Given the description of an element on the screen output the (x, y) to click on. 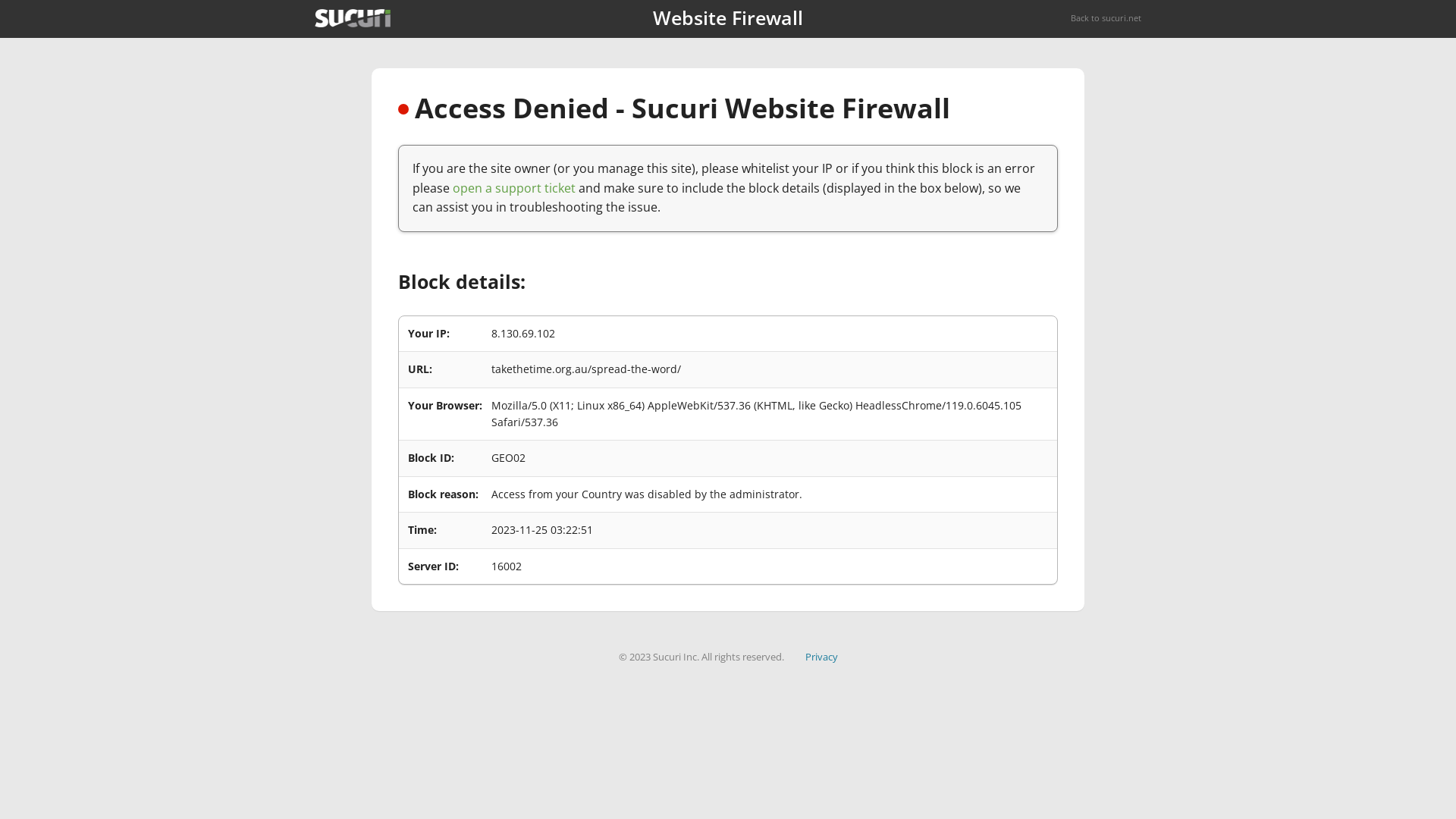
open a support ticket Element type: text (513, 187)
Privacy Element type: text (821, 656)
Back to sucuri.net Element type: text (1105, 18)
